Given the description of an element on the screen output the (x, y) to click on. 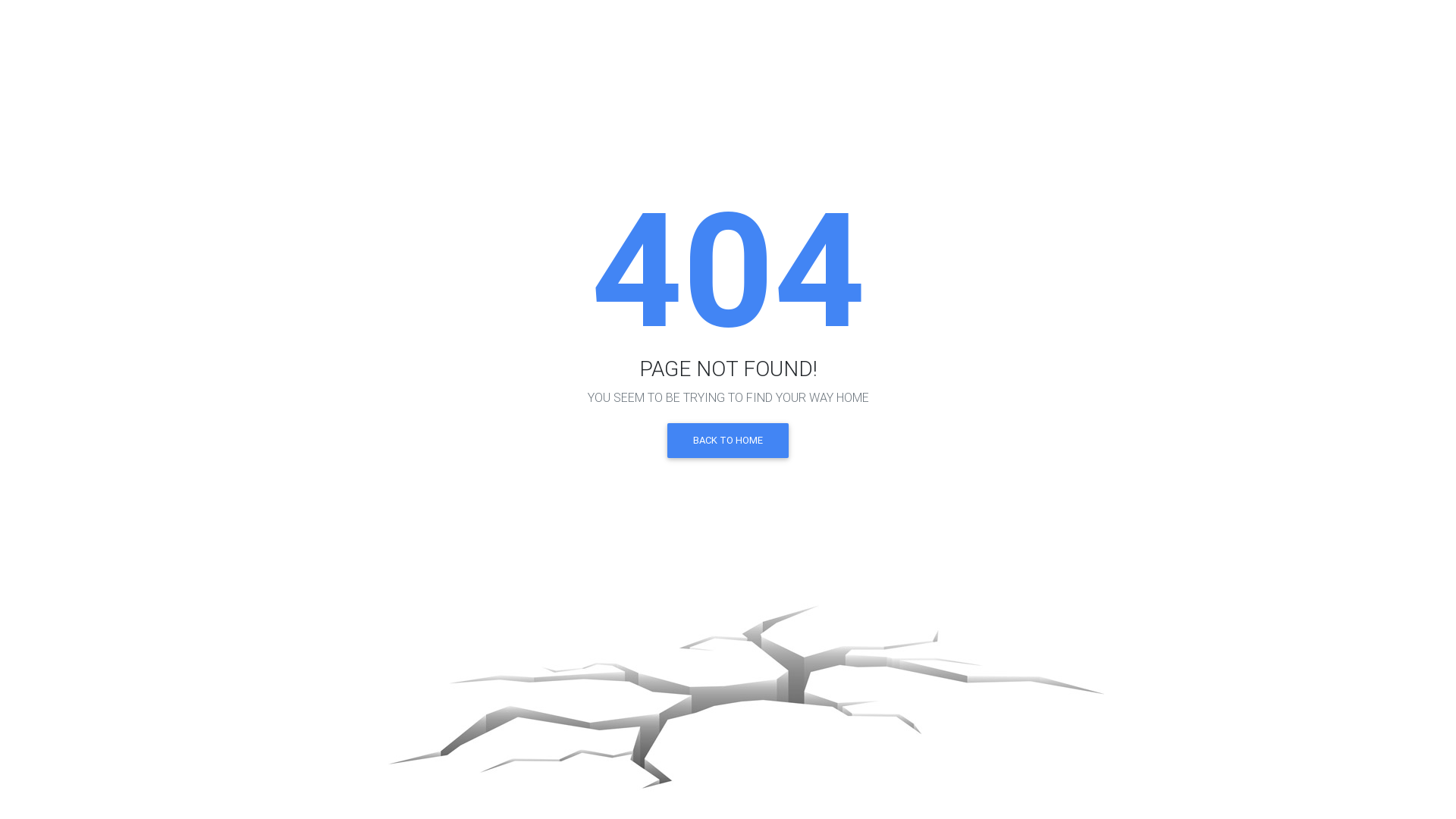
BACK TO HOME Element type: text (727, 440)
